Given the description of an element on the screen output the (x, y) to click on. 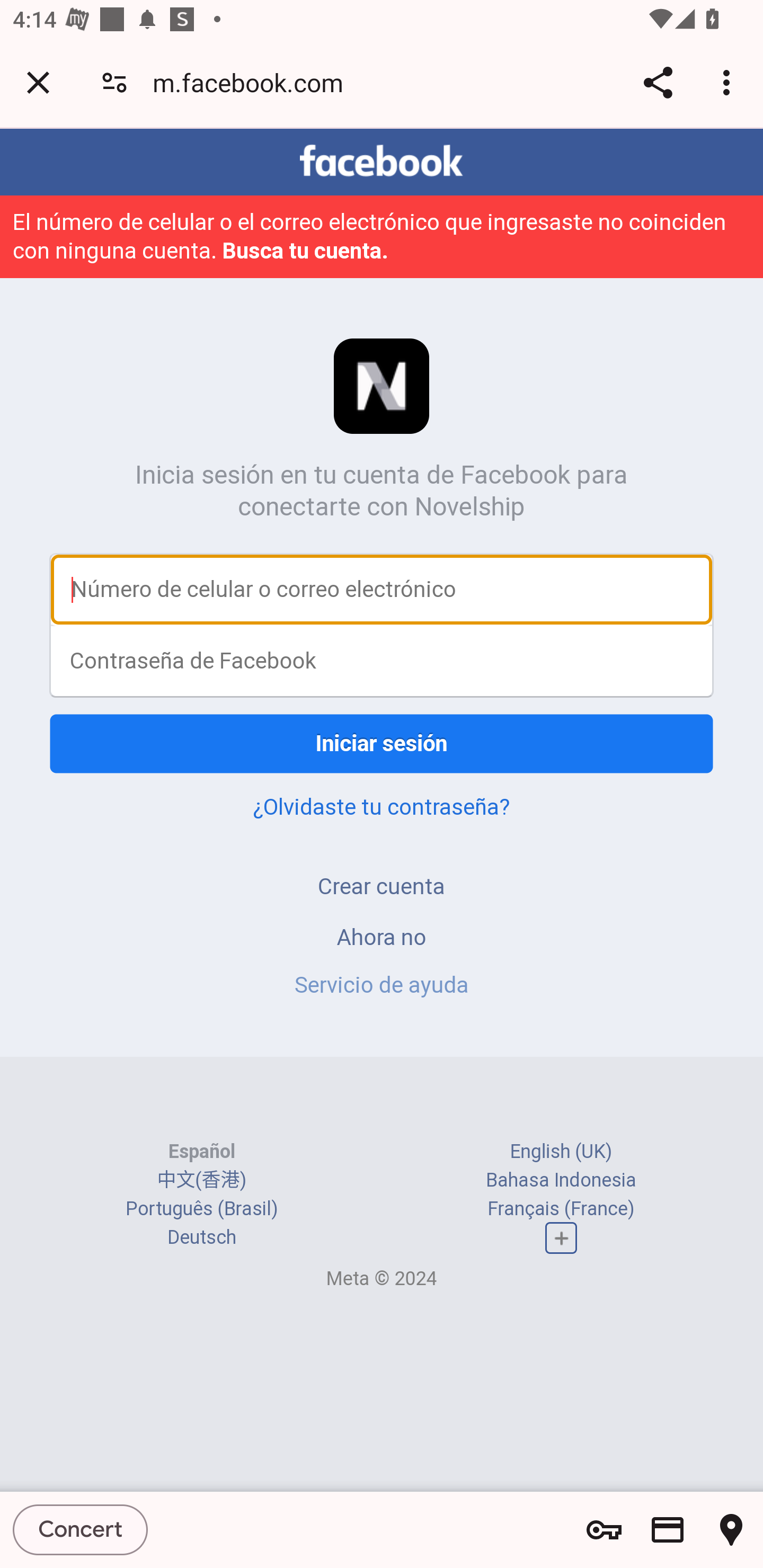
Close tab (38, 82)
Share (657, 82)
Customize and control Google Chrome (729, 82)
Connection is secure (114, 81)
m.facebook.com (254, 81)
facebook (381, 160)
Busca tu cuenta. (305, 249)
Iniciar sesión (381, 744)
¿Olvidaste tu contraseña? (381, 806)
Crear cuenta (381, 885)
Ahora no (381, 936)
Servicio de ayuda (381, 983)
English (UK) (560, 1151)
中文(香港) (201, 1179)
Bahasa Indonesia (560, 1179)
Português (Brasil) (201, 1207)
Français (France) (560, 1207)
Lista completa de idiomas (560, 1237)
Deutsch (201, 1236)
Concert (80, 1529)
Show saved passwords and password options (603, 1530)
Show saved payment methods (667, 1530)
Show saved addresses (731, 1530)
